Given the description of an element on the screen output the (x, y) to click on. 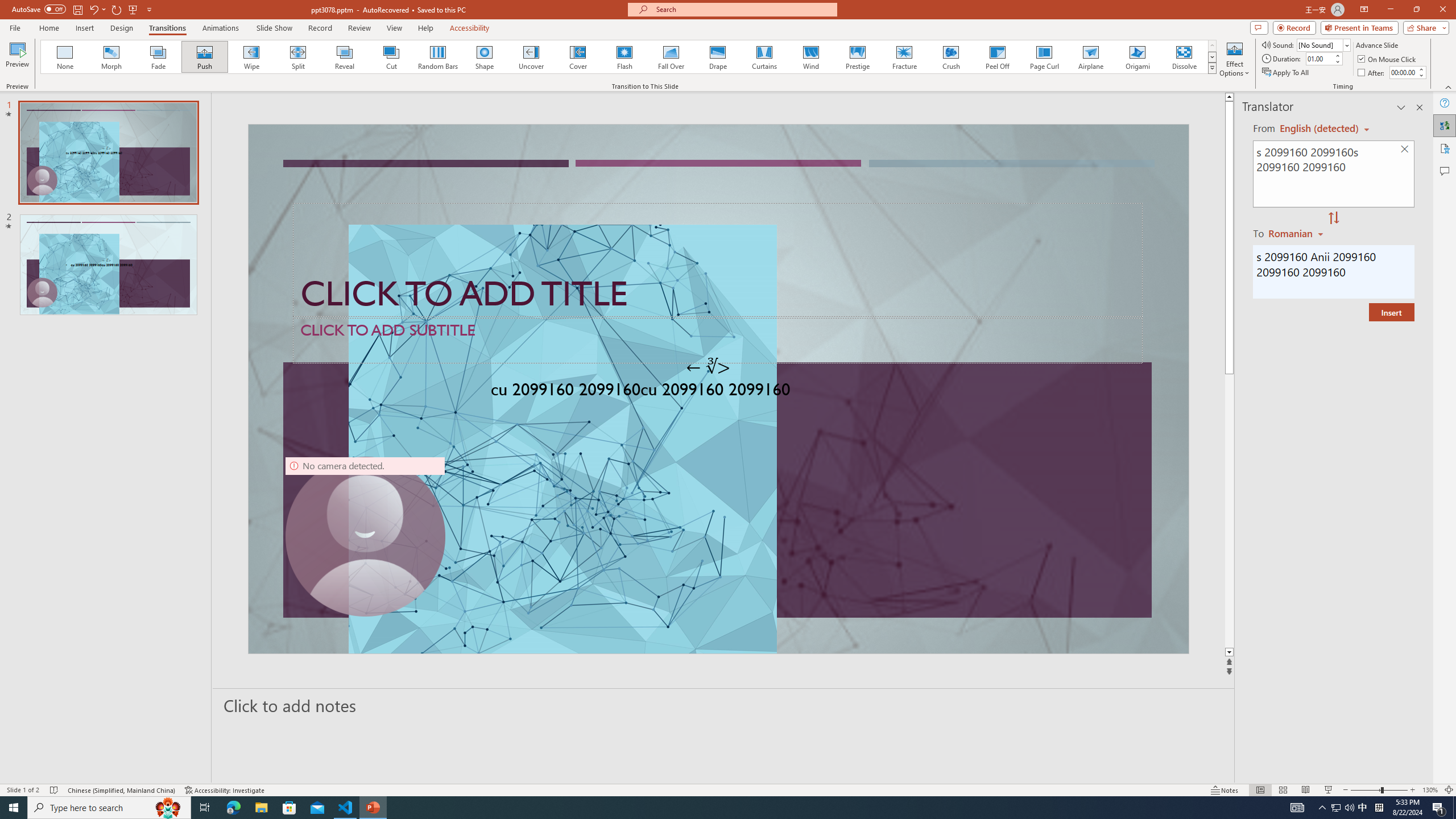
Morph (111, 56)
Zoom 130% (1430, 790)
Cover (577, 56)
TextBox 61 (716, 391)
An abstract genetic concept (718, 388)
